Given the description of an element on the screen output the (x, y) to click on. 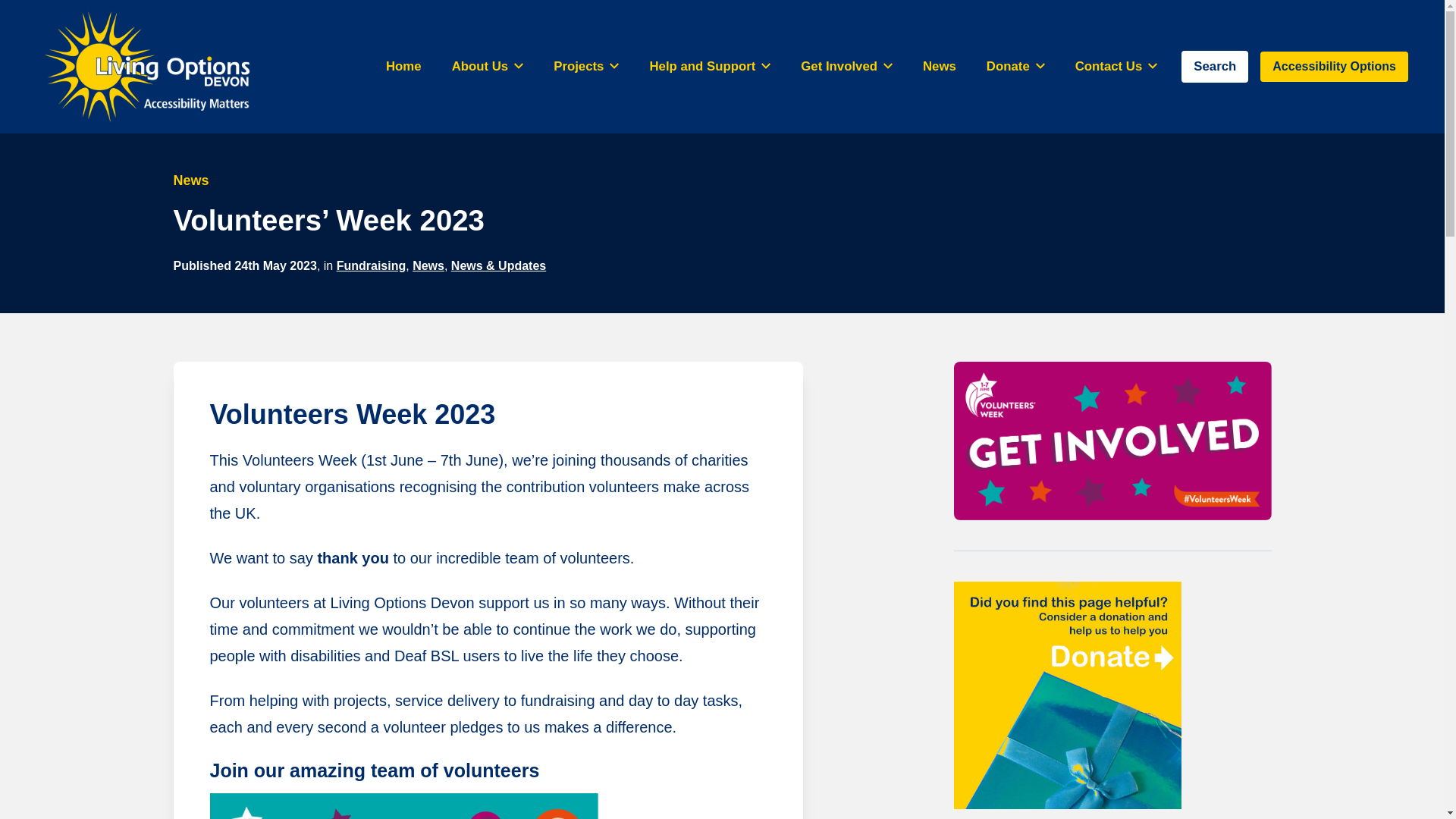
Skip to main content (5, 5)
News (939, 66)
Contact Us (1116, 66)
About Us (487, 66)
Home (403, 66)
Help and Support (710, 66)
Search (1213, 65)
Donate (1015, 66)
Get Involved (846, 66)
Projects (585, 66)
